Given the description of an element on the screen output the (x, y) to click on. 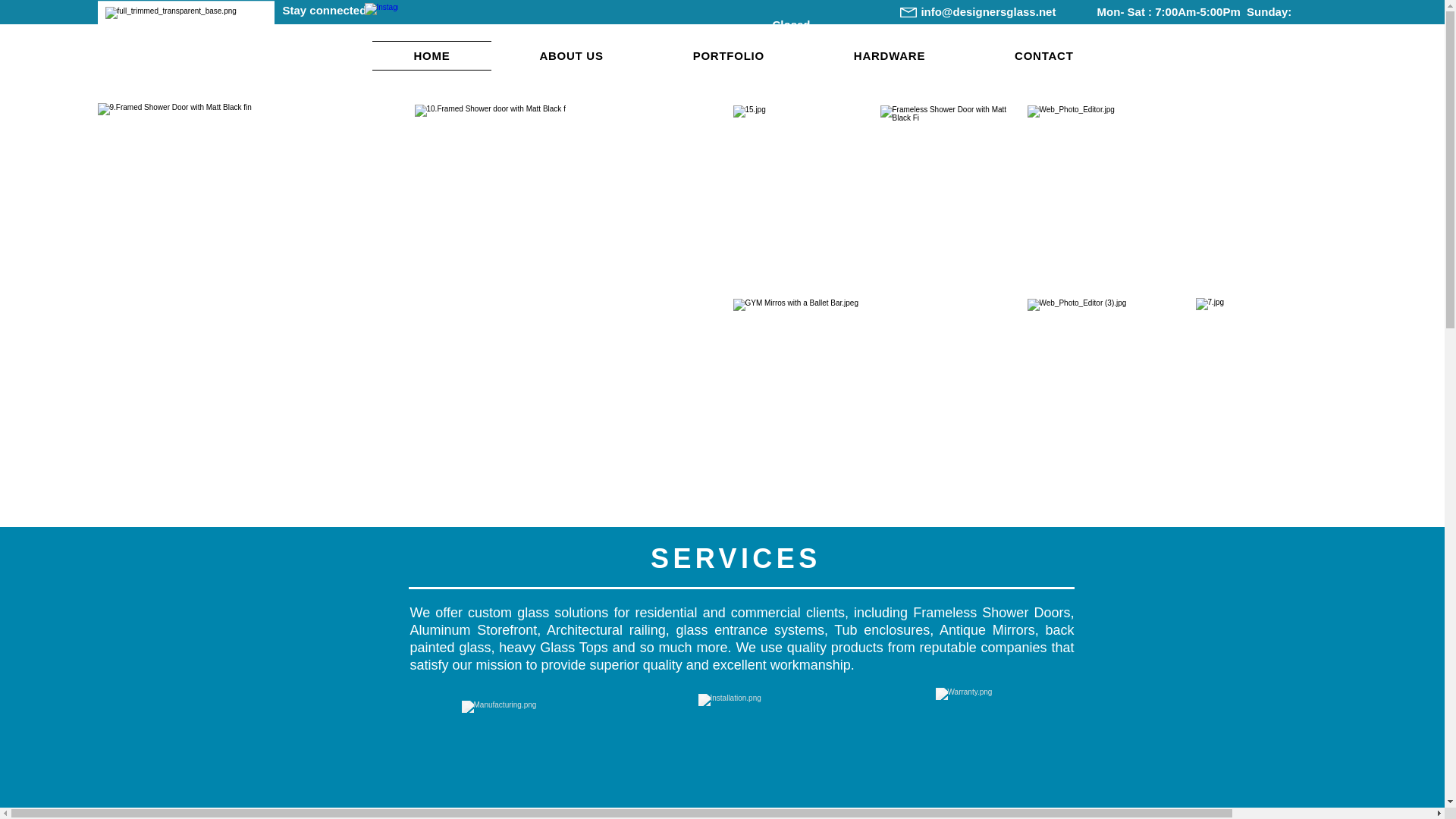
HARDWARE (889, 55)
HOME (431, 55)
ABOUT US (571, 55)
CONTACT (1043, 55)
PORTFOLIO (728, 55)
